Given the description of an element on the screen output the (x, y) to click on. 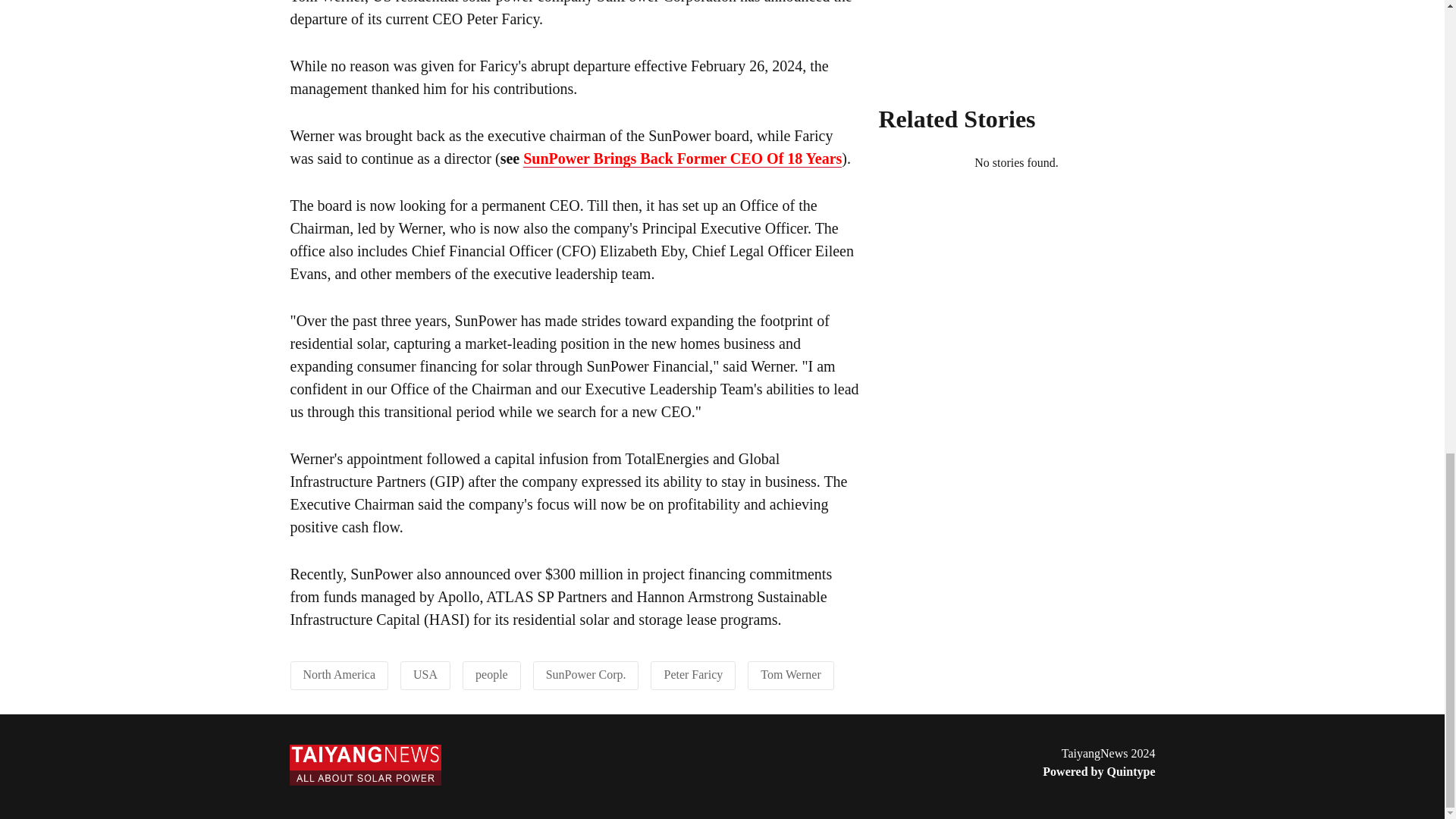
Powered by Quintype (1098, 771)
SunPower Corp. (586, 674)
Peter Faricy (692, 674)
SunPower Brings Back Former CEO Of 18 Years (681, 158)
North America (338, 674)
USA (425, 674)
people (492, 674)
Tom Werner (790, 674)
